Given the description of an element on the screen output the (x, y) to click on. 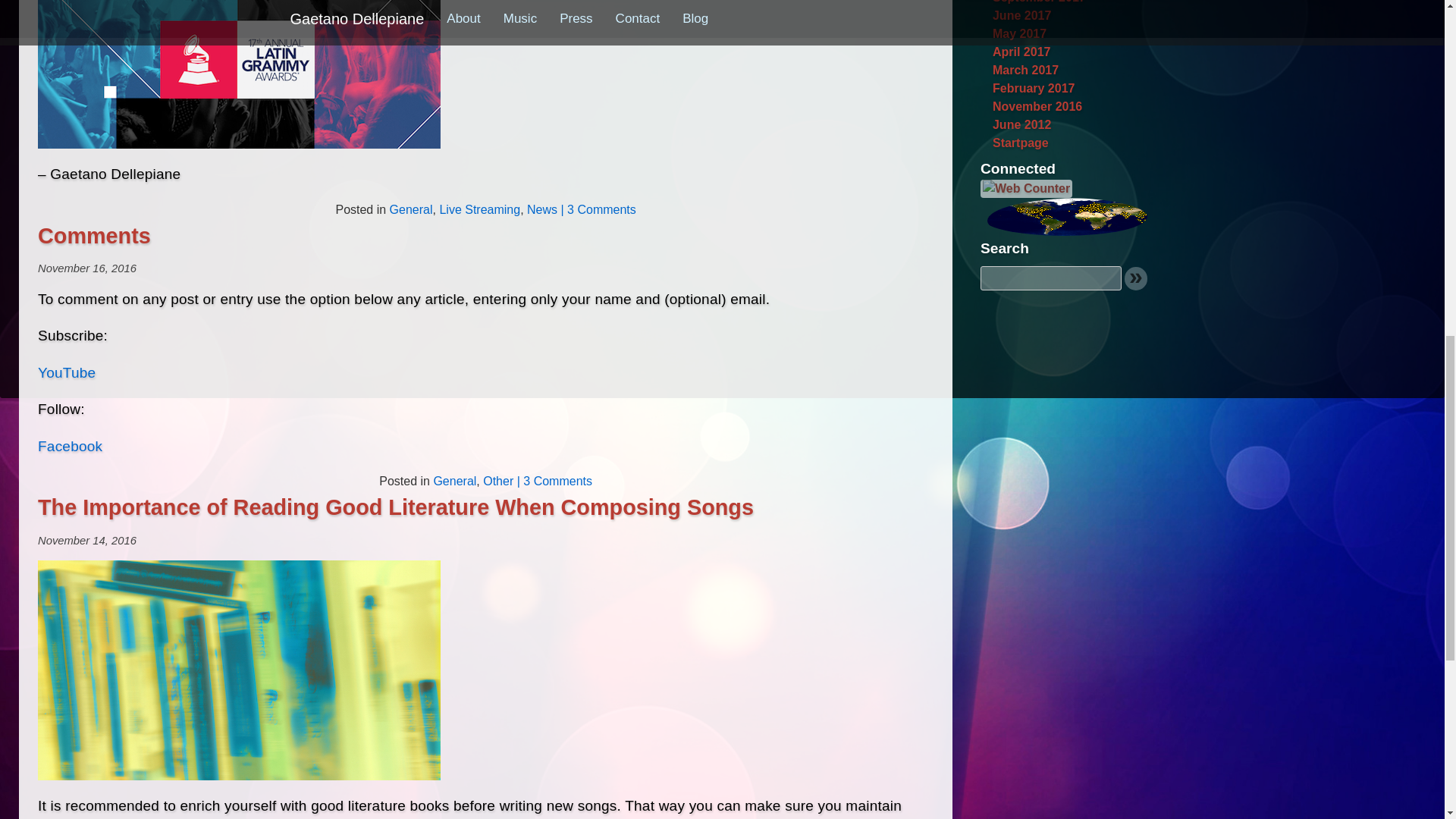
General (411, 209)
Web Counter (1025, 188)
Comments (94, 235)
lgrammys.png (239, 74)
General (454, 481)
Other (498, 481)
photos.jpg (239, 670)
November 14, 2016 (86, 540)
News (542, 209)
Live Streaming (479, 209)
November 16, 2016 (86, 268)
YouTube (66, 372)
Web Counter (1025, 187)
Facebook (69, 446)
